Given the description of an element on the screen output the (x, y) to click on. 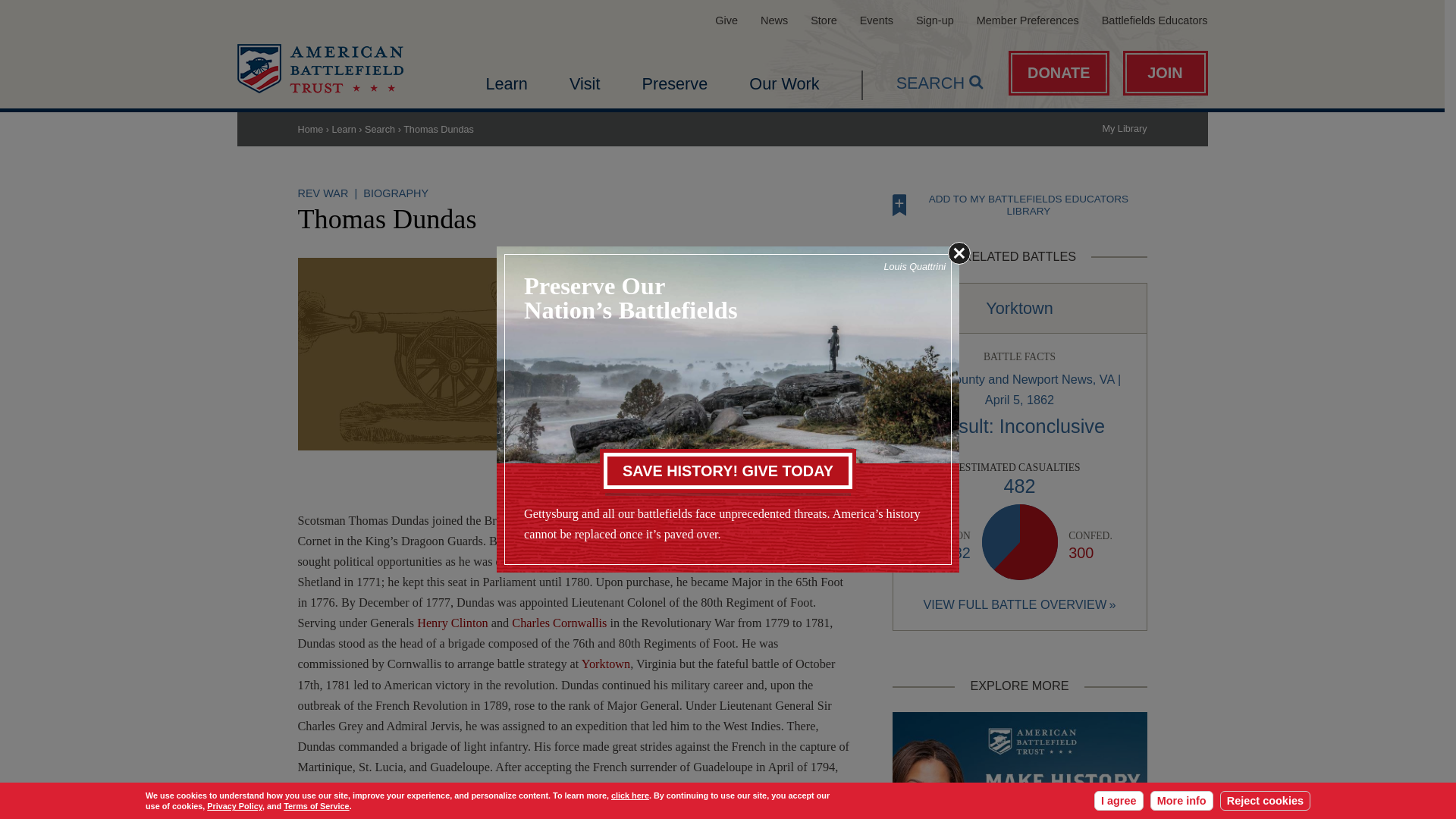
Terms of Service (316, 805)
I agree (1118, 800)
click here (630, 795)
Store (823, 20)
Battlefields Educators (1155, 20)
Learn (505, 83)
Sign-up (934, 20)
Give (726, 20)
Events (876, 20)
Member Preferences (1027, 20)
News (773, 20)
Privacy Policy (234, 805)
Reject cookies (1265, 800)
Home (319, 68)
